Given the description of an element on the screen output the (x, y) to click on. 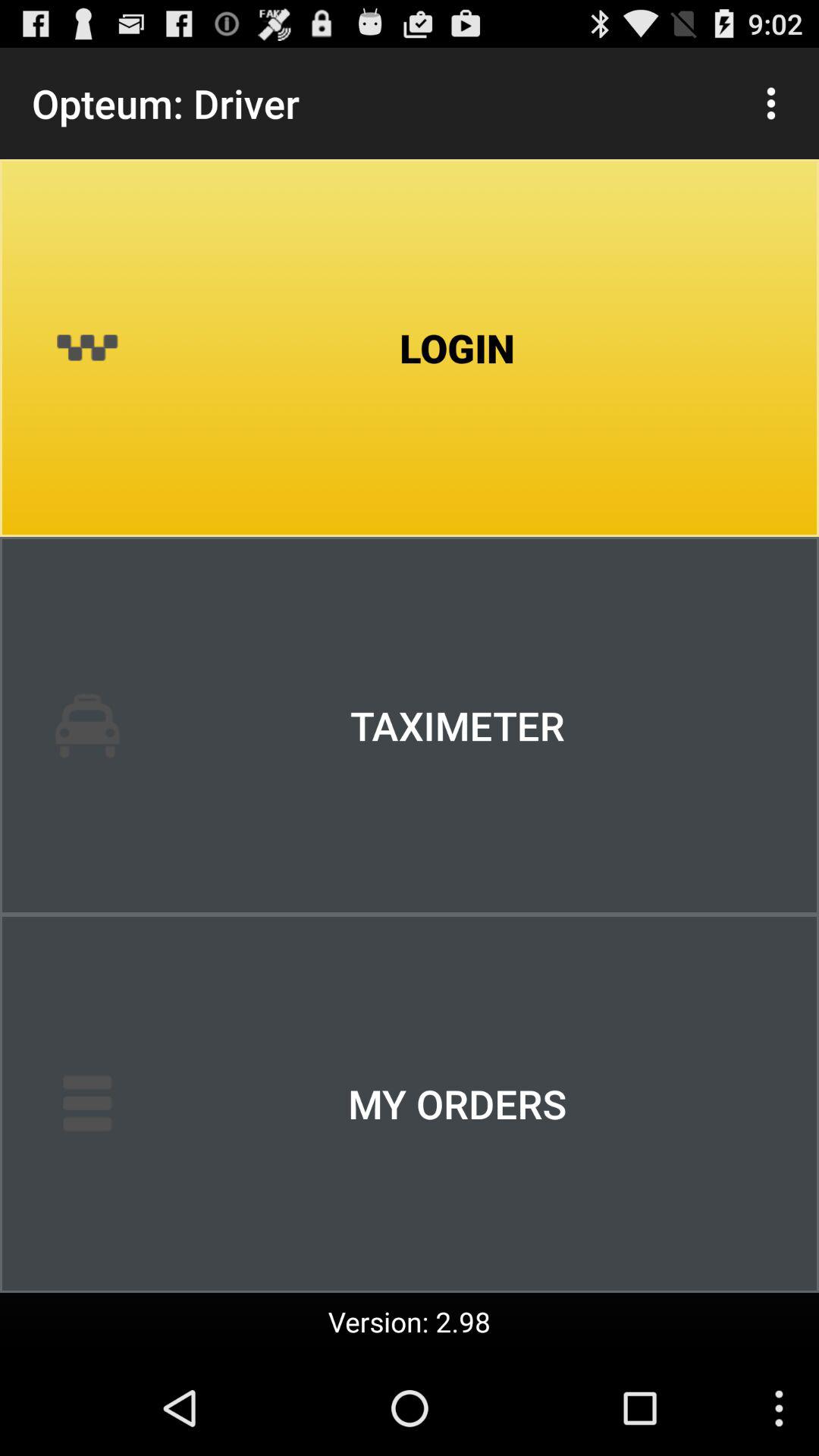
scroll until login item (409, 347)
